Given the description of an element on the screen output the (x, y) to click on. 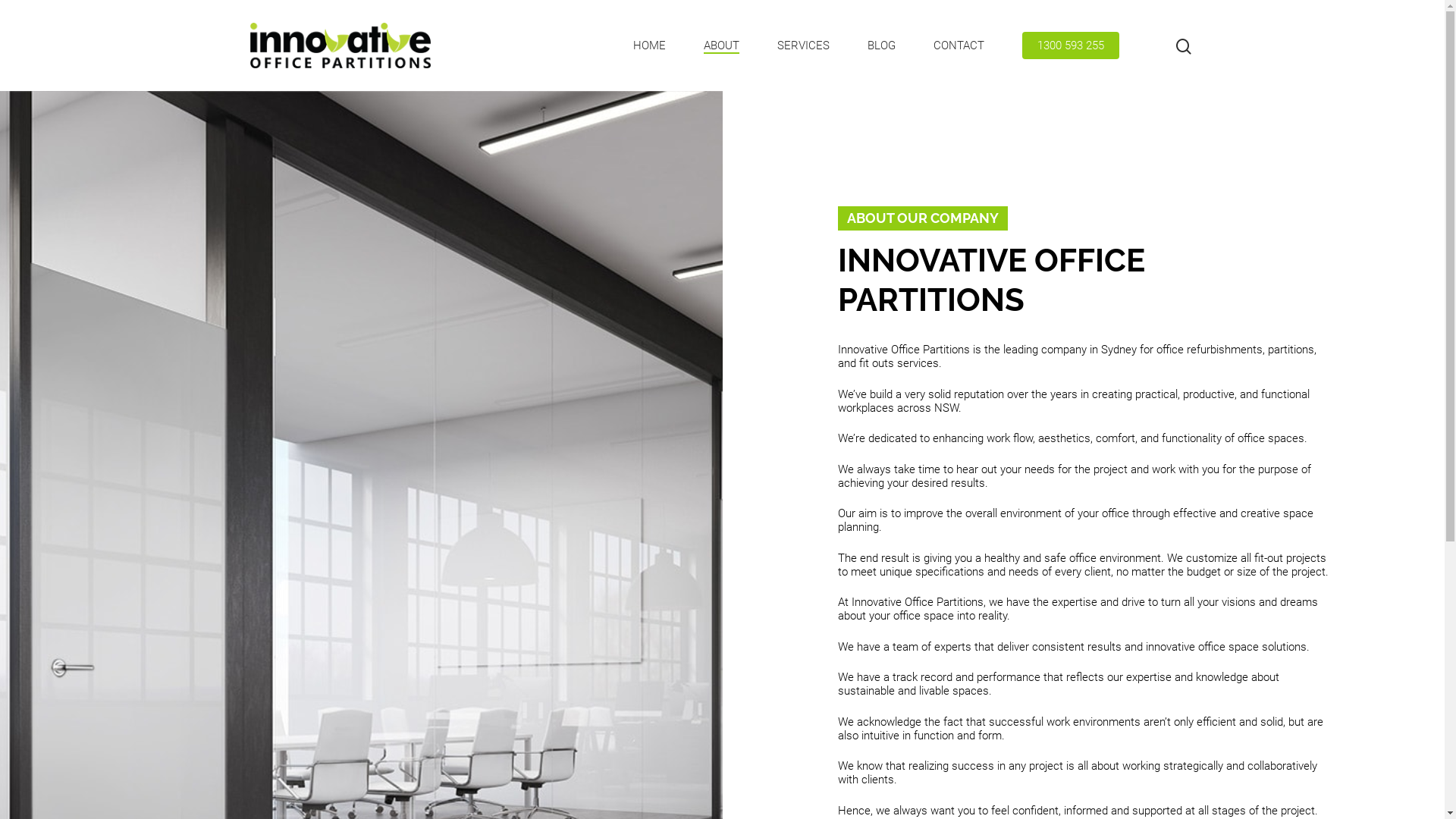
CONTACT Element type: text (958, 44)
SERVICES Element type: text (803, 44)
1300 593 255 Element type: text (1070, 44)
ABOUT Element type: text (721, 44)
BLOG Element type: text (881, 44)
HOME Element type: text (649, 44)
